Given the description of an element on the screen output the (x, y) to click on. 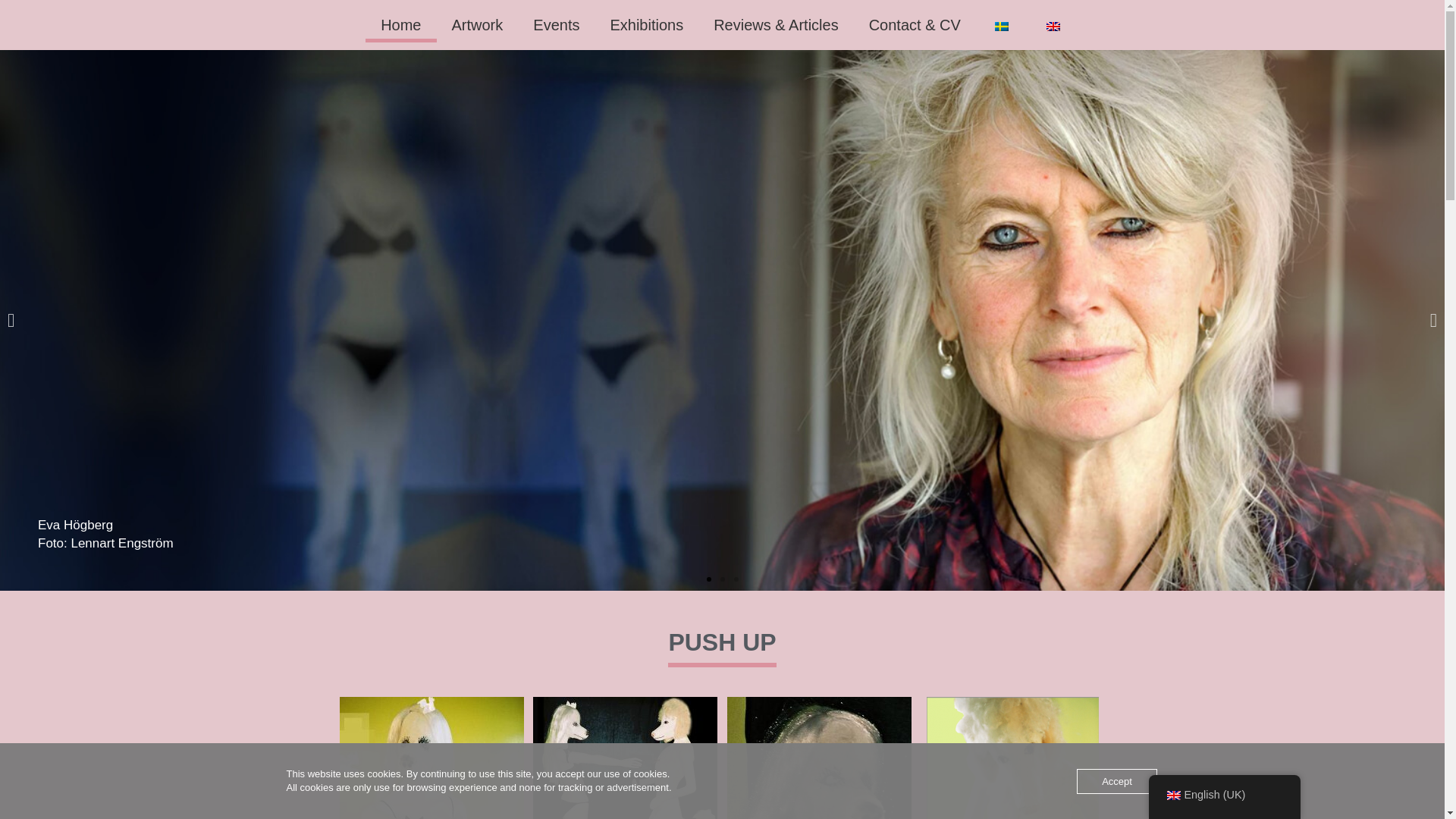
Artwork (477, 24)
Exhibitions (646, 24)
English (1052, 26)
Swedish (1001, 26)
Events (556, 24)
Home (400, 24)
PUSH UP (722, 642)
